Given the description of an element on the screen output the (x, y) to click on. 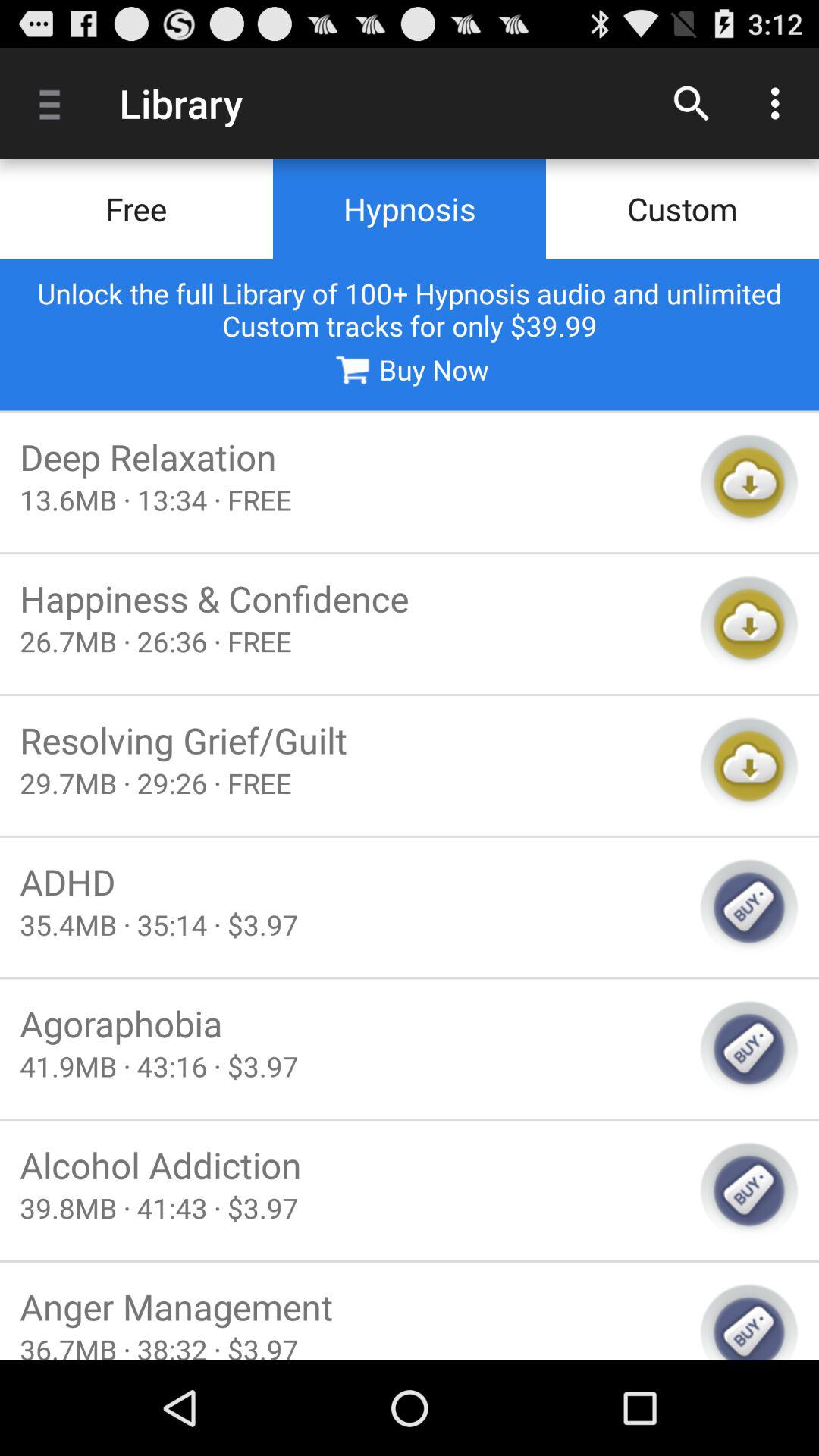
purchase button (749, 1048)
